Given the description of an element on the screen output the (x, y) to click on. 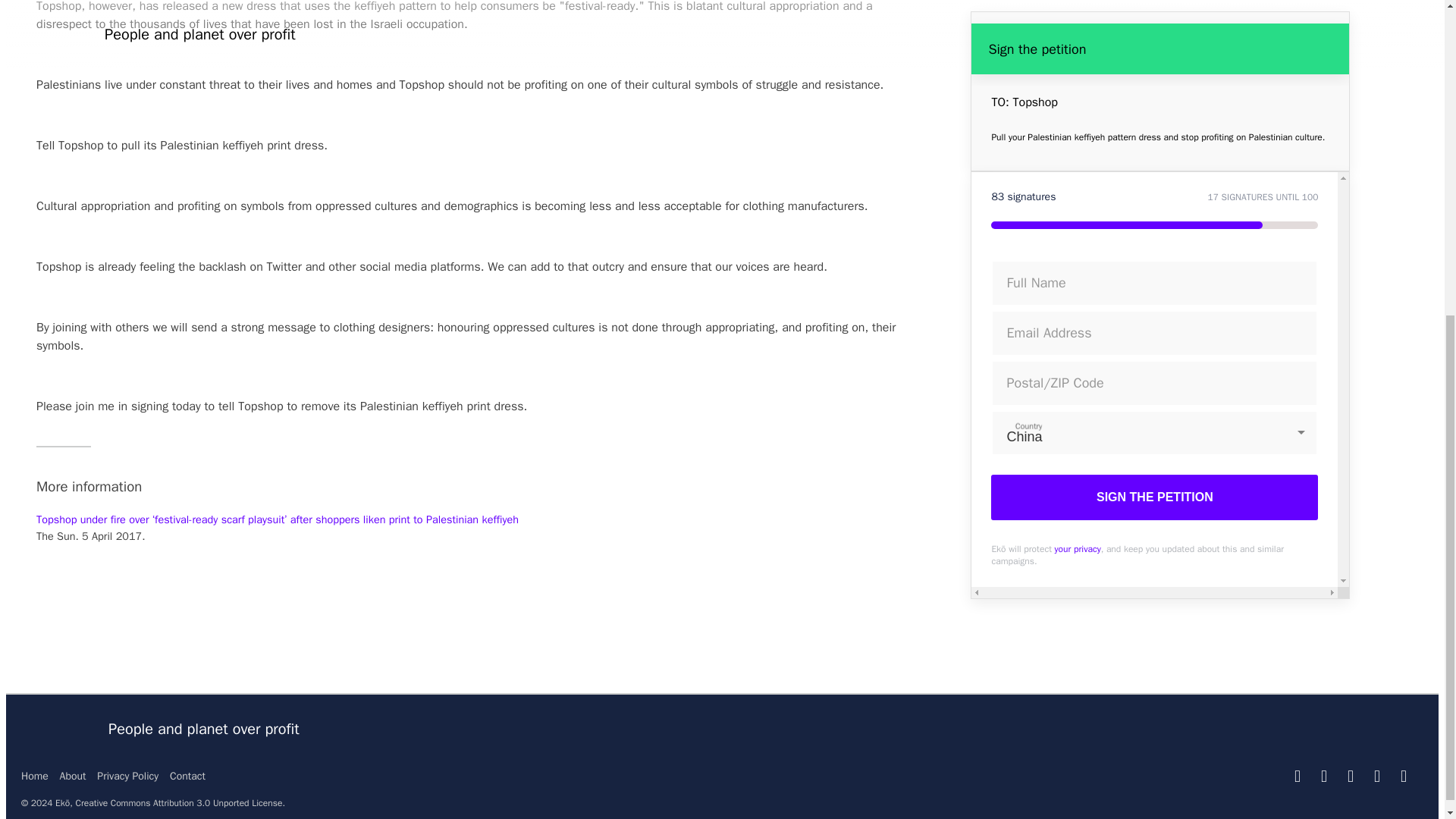
Contact (187, 775)
Home (34, 775)
Privacy Policy (127, 775)
your privacy (1077, 33)
About (72, 775)
SIGN THE PETITION (1154, 2)
